Given the description of an element on the screen output the (x, y) to click on. 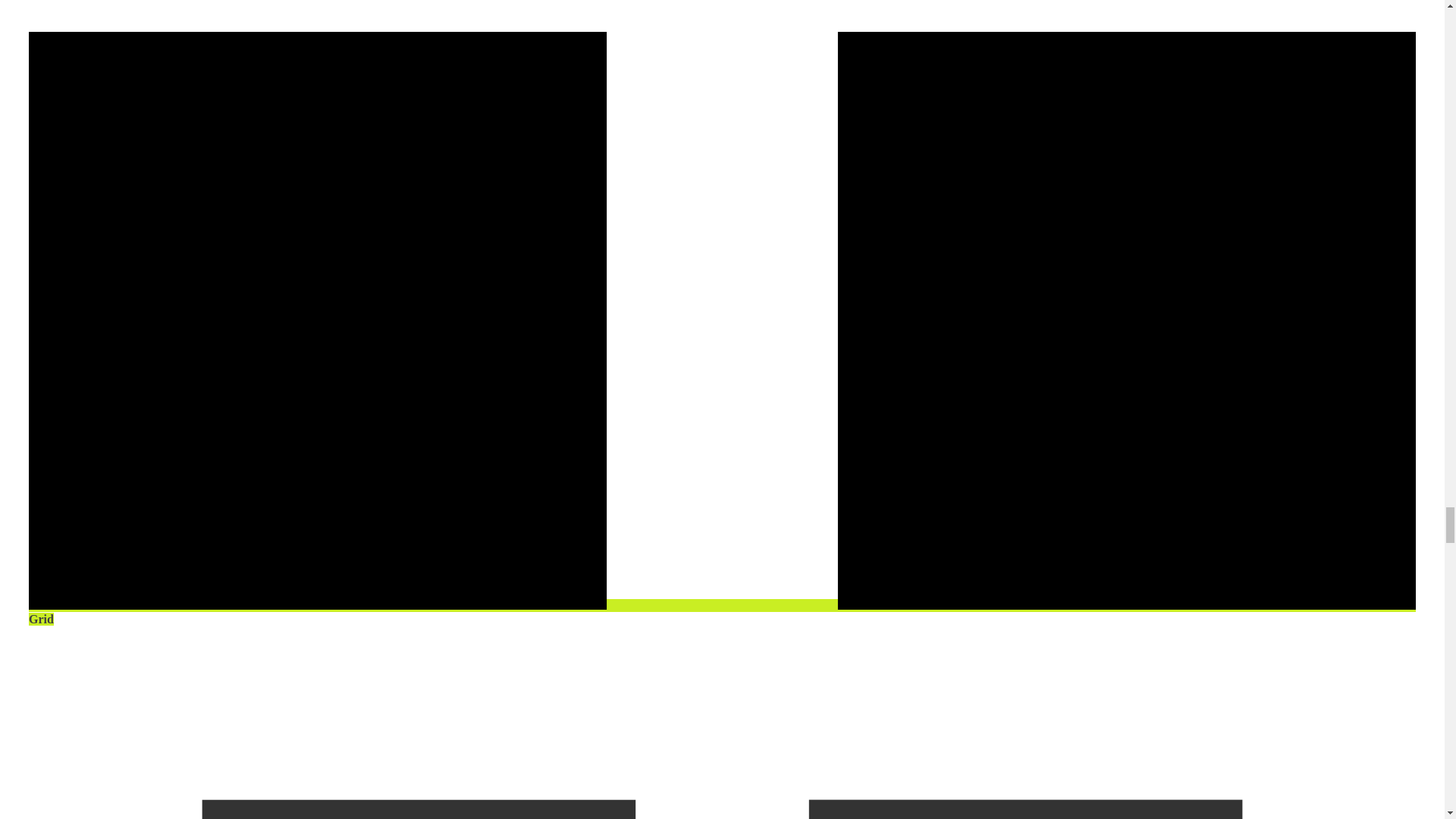
Grid (722, 611)
